Given the description of an element on the screen output the (x, y) to click on. 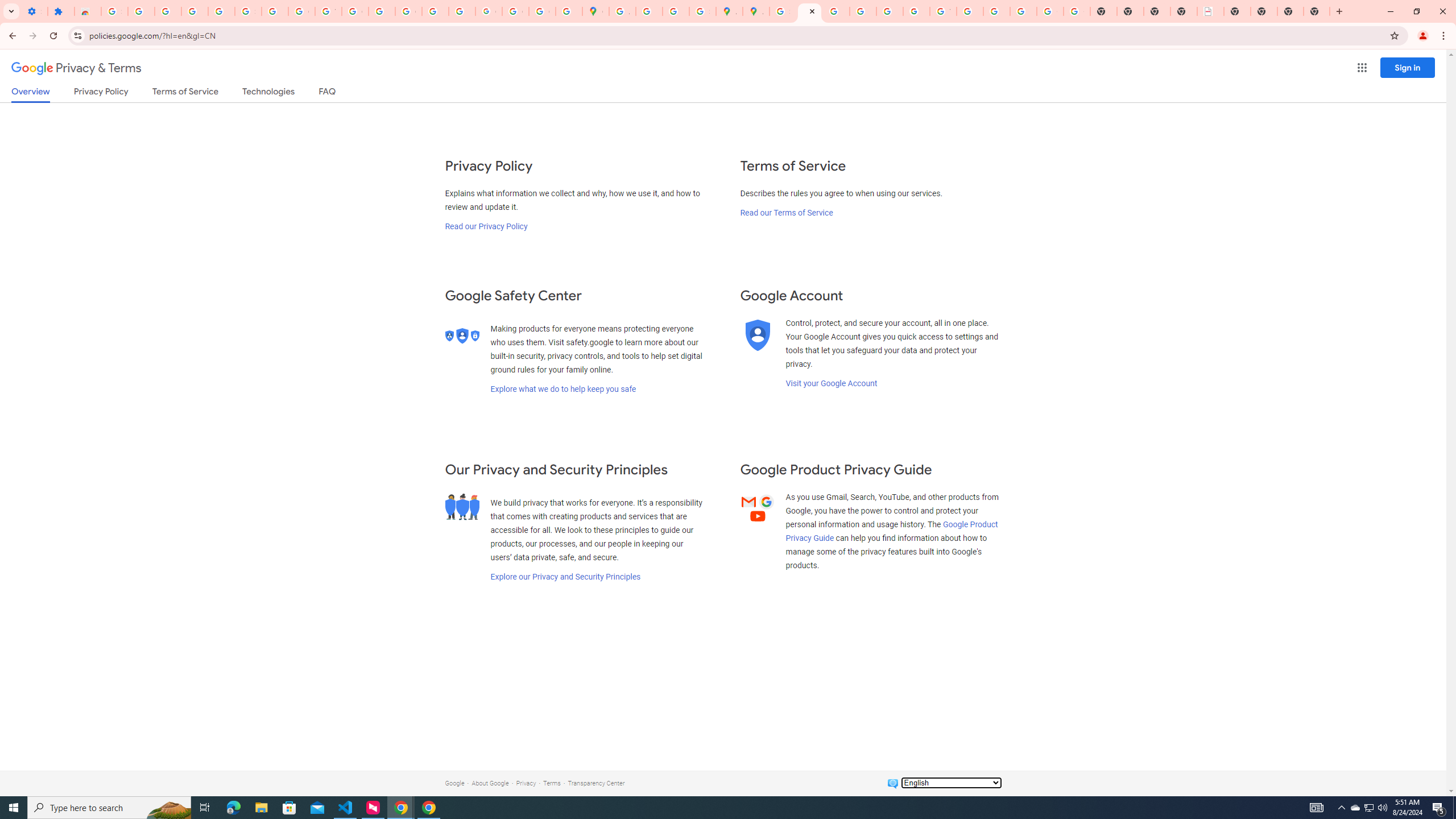
Explore our Privacy and Security Principles (565, 576)
YouTube (943, 11)
